Given the description of an element on the screen output the (x, y) to click on. 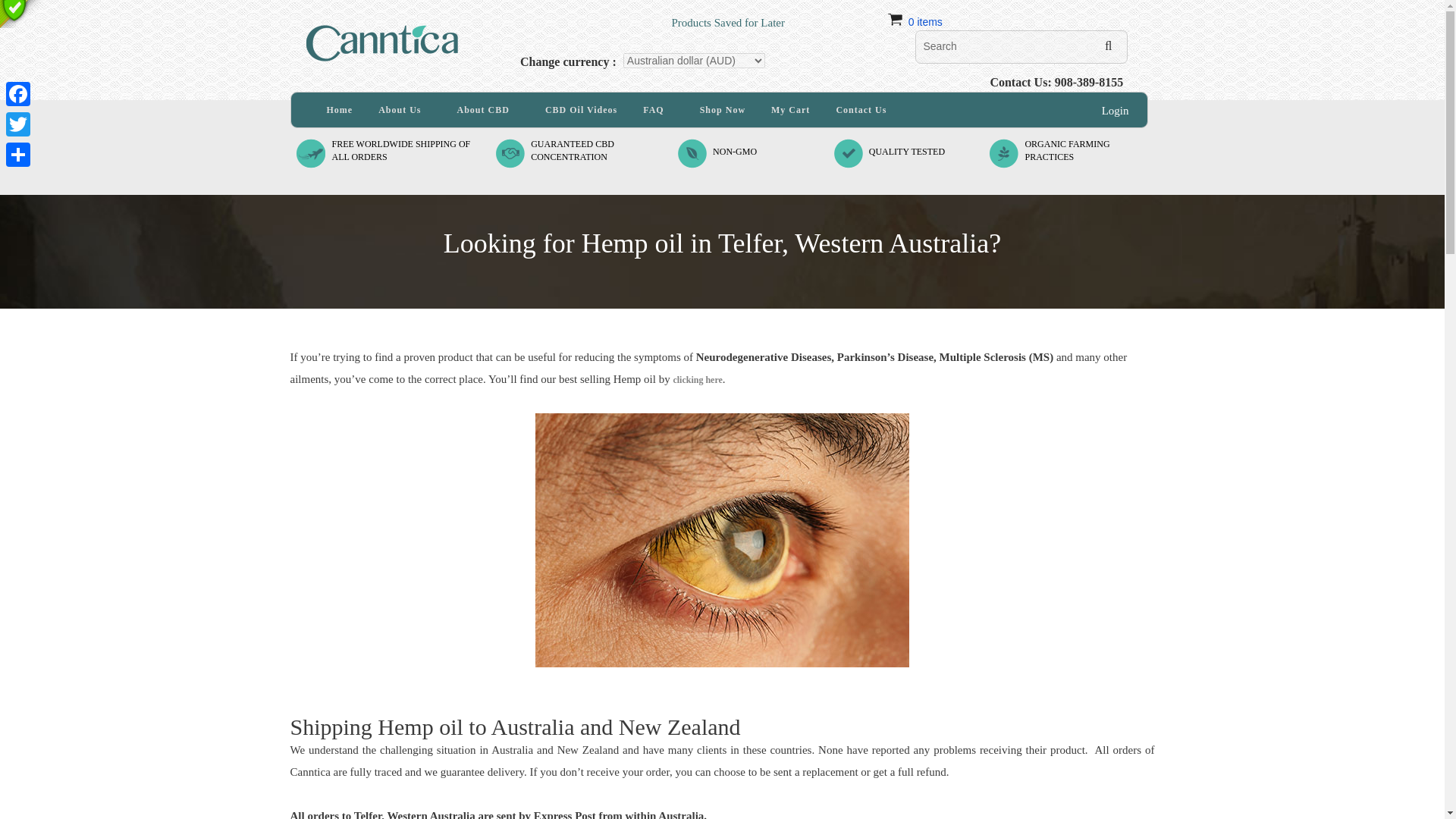
Contact Us (860, 109)
My Cart (790, 109)
Login (1115, 110)
FREE WORLDWIDE SHIPPING OF ALL ORDERS (572, 150)
NON-GMO (400, 150)
Home (735, 151)
About CBD (340, 109)
Products Saved for Later (1067, 150)
Search for: (488, 109)
View your shopping cart (648, 14)
clicking here (1020, 46)
Currency (925, 21)
Twitter (697, 379)
